Given the description of an element on the screen output the (x, y) to click on. 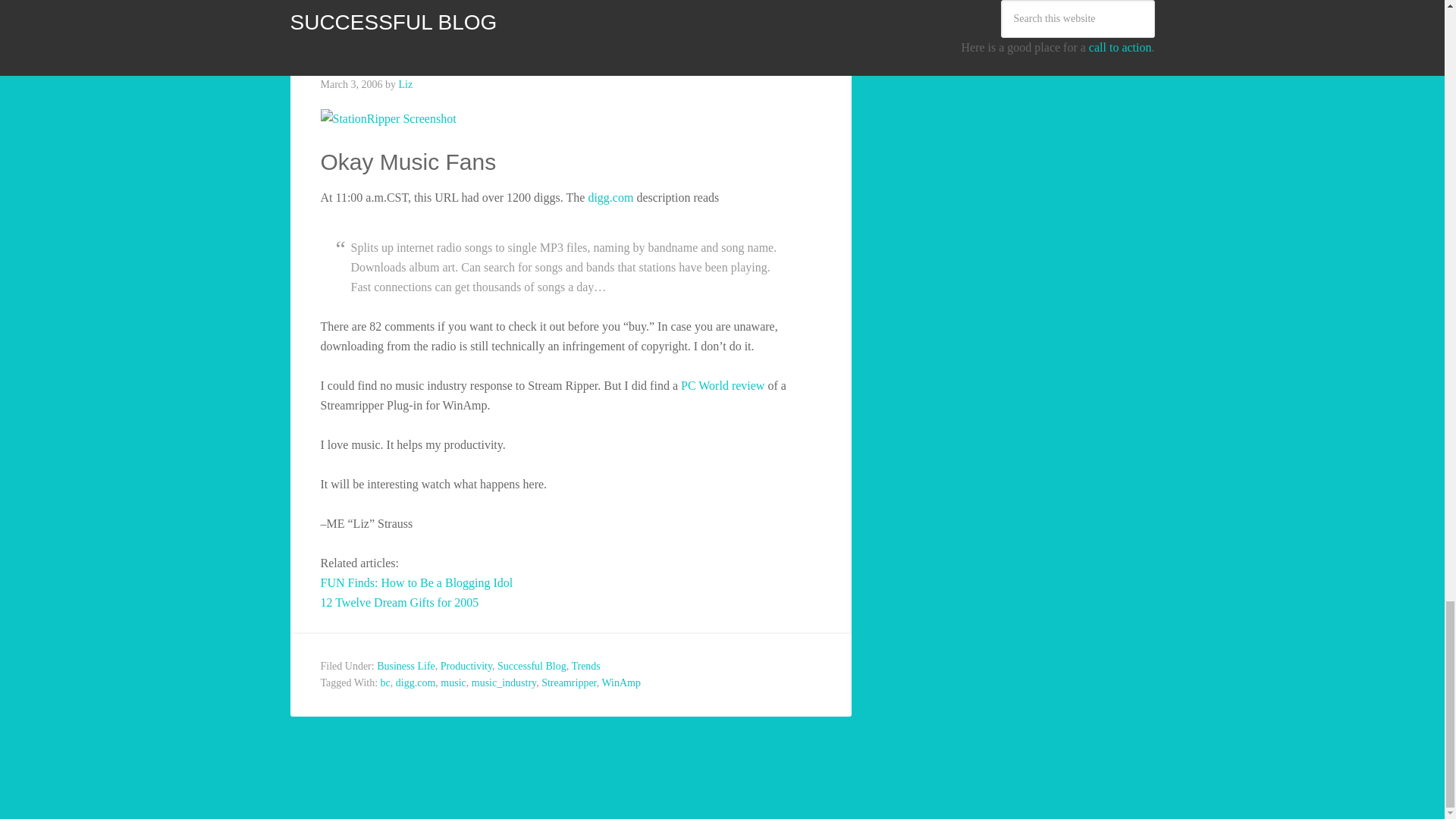
digg.com (612, 196)
Liz (405, 84)
Free Music Again? (433, 50)
